Given the description of an element on the screen output the (x, y) to click on. 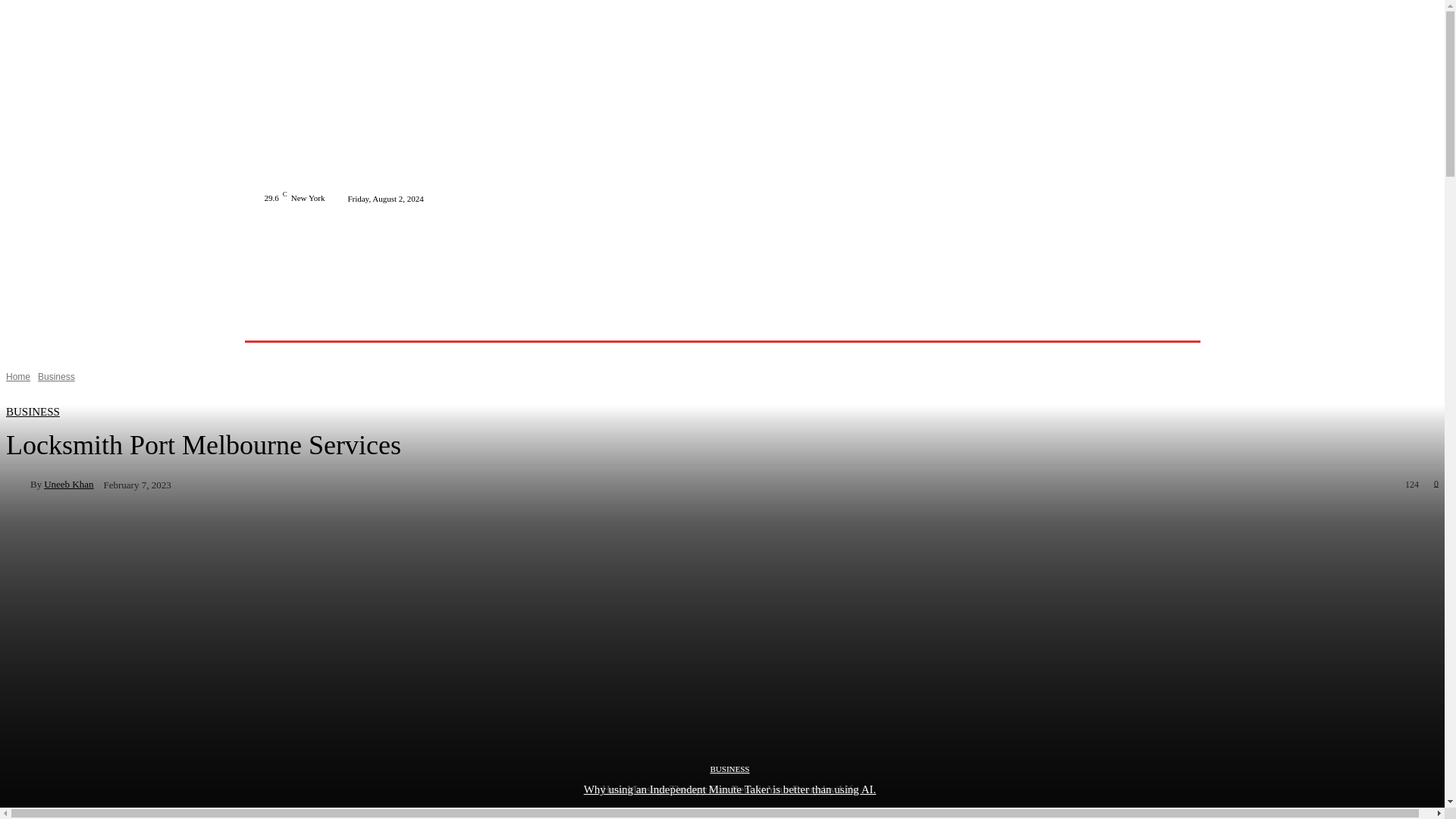
Tech (348, 321)
View all posts in Business (56, 376)
Home Improvement (525, 321)
Digital Marketing (623, 321)
Fashion (448, 321)
Uneeb Khan (17, 483)
Contact Us (796, 321)
Business (395, 321)
Home (307, 321)
